Given the description of an element on the screen output the (x, y) to click on. 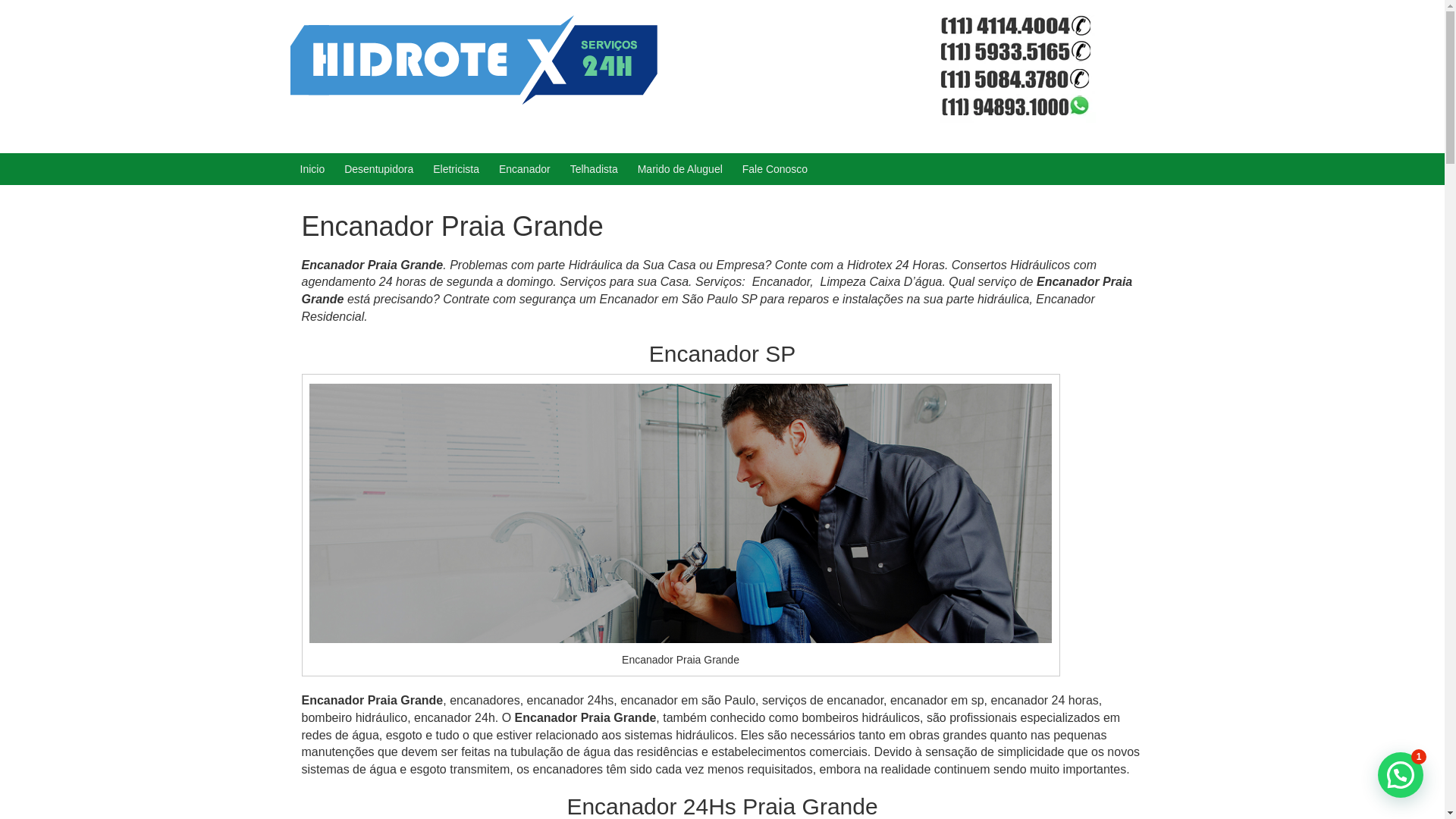
Encanador Residencial Element type: text (698, 307)
Encanador Element type: text (524, 169)
Telhadista Element type: text (594, 169)
Inicio Element type: text (312, 169)
Marido de Aluguel Element type: text (679, 169)
Desentupidora Element type: text (378, 169)
Fale Conosco Element type: text (774, 169)
Eletricista Element type: text (456, 169)
11-94893.1000-Desentupidora Hidrotex Element type: hover (472, 59)
